Given the description of an element on the screen output the (x, y) to click on. 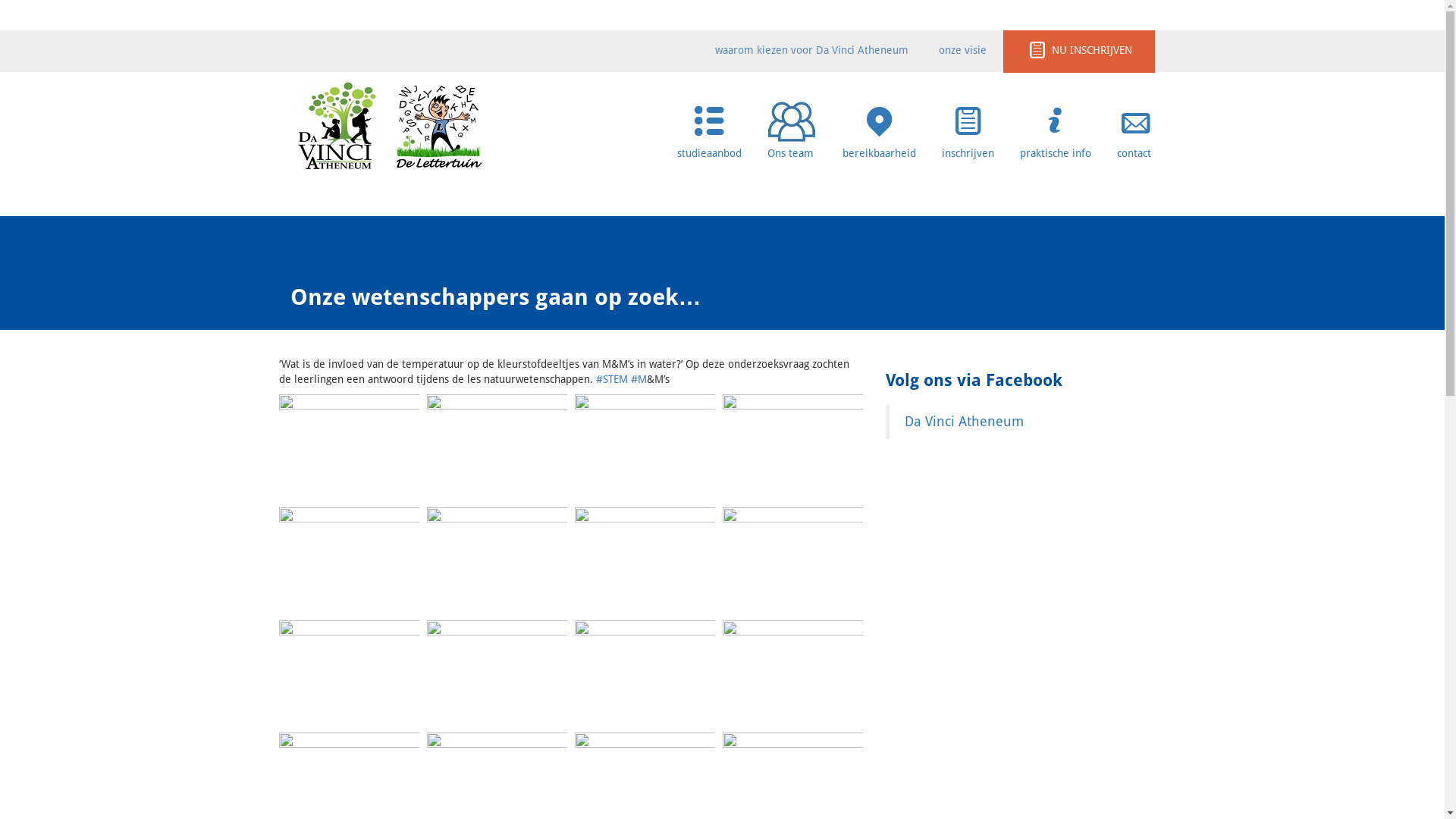
161180928_1721377258049240_4711734131261489525_o Element type: hover (791, 559)
studieaanbod Element type: text (708, 125)
#STEM Element type: text (611, 379)
161270694_1721377451382554_3776071692492470904_o Element type: hover (644, 672)
Ons team Element type: text (791, 137)
161067272_1721377381382561_3378245173227249835_o Element type: hover (349, 559)
161121951_1721377278049238_7204211908373412308_o Element type: hover (496, 559)
onze visie Element type: text (962, 49)
inschrijven Element type: text (967, 125)
#M Element type: text (638, 379)
161185508_1721377294715903_1338786078663527016_o Element type: hover (349, 672)
 NU INSCHRIJVEN Element type: text (1078, 49)
contact Element type: text (1135, 125)
waarom kiezen voor Da Vinci Atheneum Element type: text (810, 49)
    Element type: text (339, 125)
161243297_1721377424715890_1622713556584437471_o Element type: hover (496, 672)
161067194_1721377214715911_1371115992452256437_n Element type: hover (791, 446)
161290221_1721377021382597_7539731591102724795_o Element type: hover (791, 672)
160661583_1721377228049243_7023266791252447210_o Element type: hover (349, 446)
bereikbaarheid Element type: text (878, 125)
Da Vinci Atheneum Element type: text (962, 421)
161170602_1721377494715883_1810326939449576361_o Element type: hover (644, 559)
161029794_1721376928049273_7000777785008717161_o Element type: hover (644, 446)
praktische info Element type: text (1054, 125)
161011289_1721376974715935_5783402644295344374_n Element type: hover (496, 446)
